Given the description of an element on the screen output the (x, y) to click on. 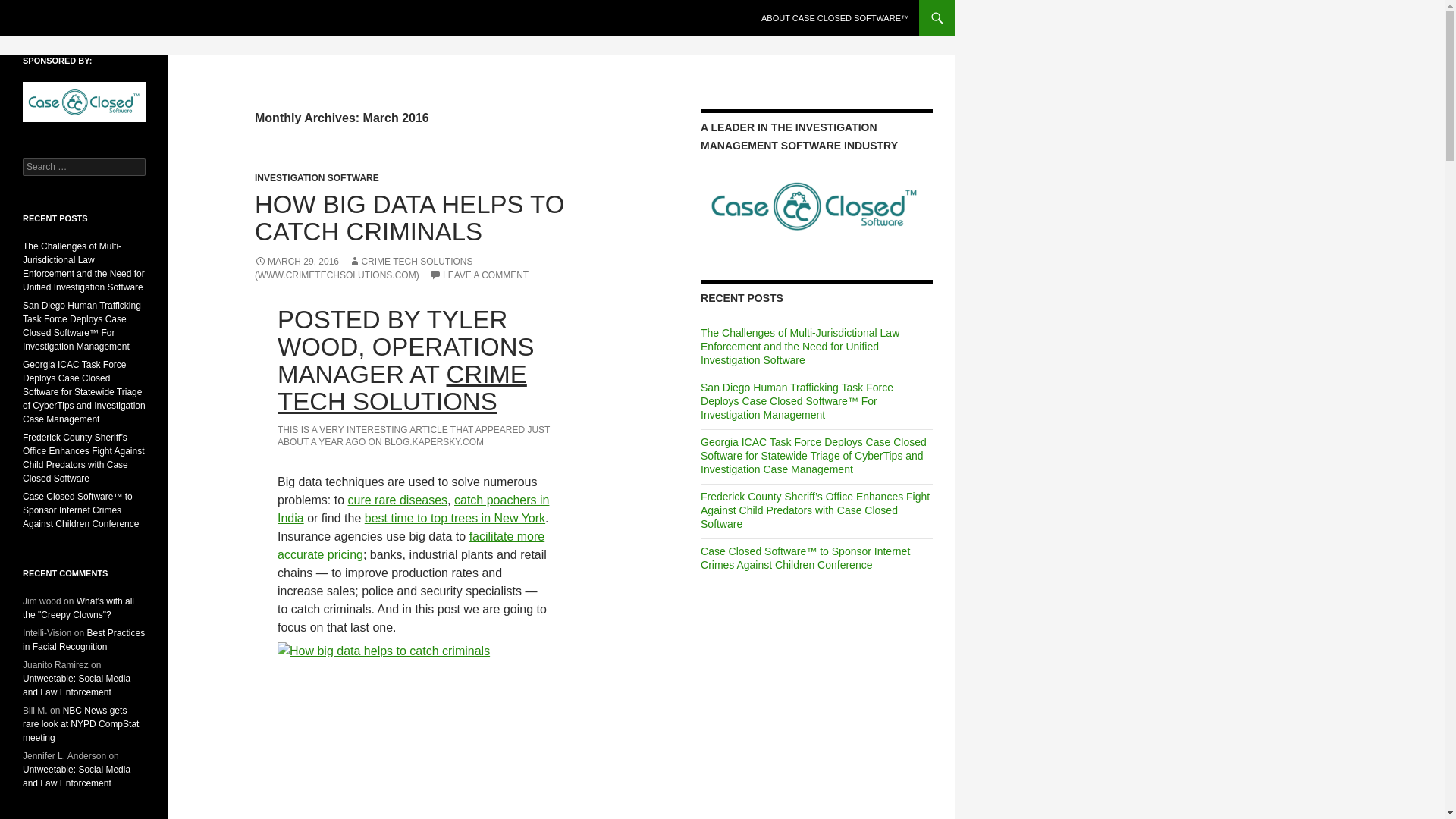
Crime Tech Weekly (85, 18)
LEAVE A COMMENT (478, 275)
HOW BIG DATA HELPS TO CATCH CRIMINALS (409, 217)
facilitate more accurate pricing (411, 545)
CRIME TECH SOLUTIONS (402, 387)
best time to top trees in New York (454, 517)
INVESTIGATION SOFTWARE (316, 177)
catch poachers in India (413, 508)
MARCH 29, 2016 (296, 261)
cure rare diseases (396, 499)
